Given the description of an element on the screen output the (x, y) to click on. 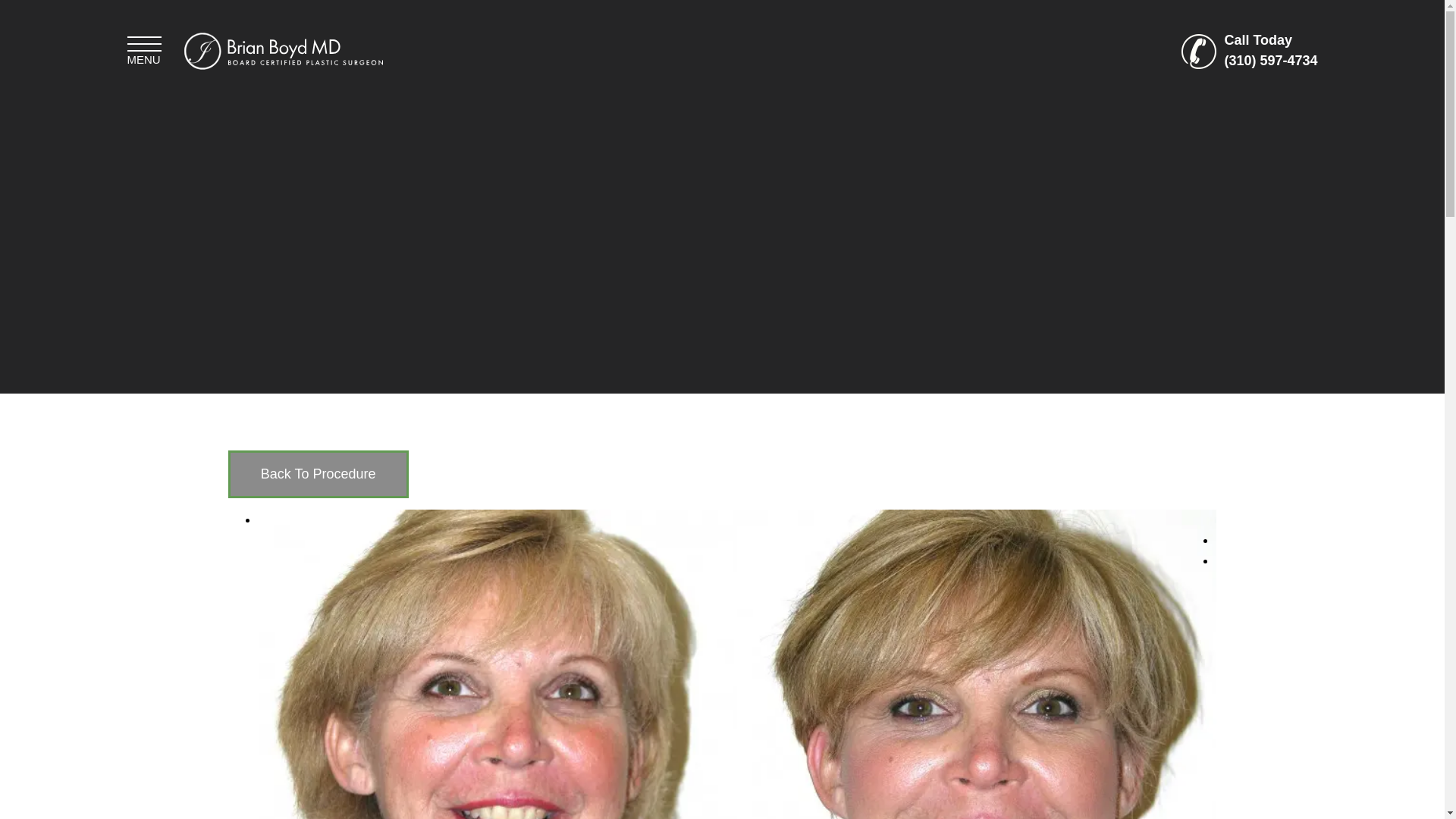
Brian Boyd M.D. - Board Certified Plastic Surgeon (282, 49)
